Given the description of an element on the screen output the (x, y) to click on. 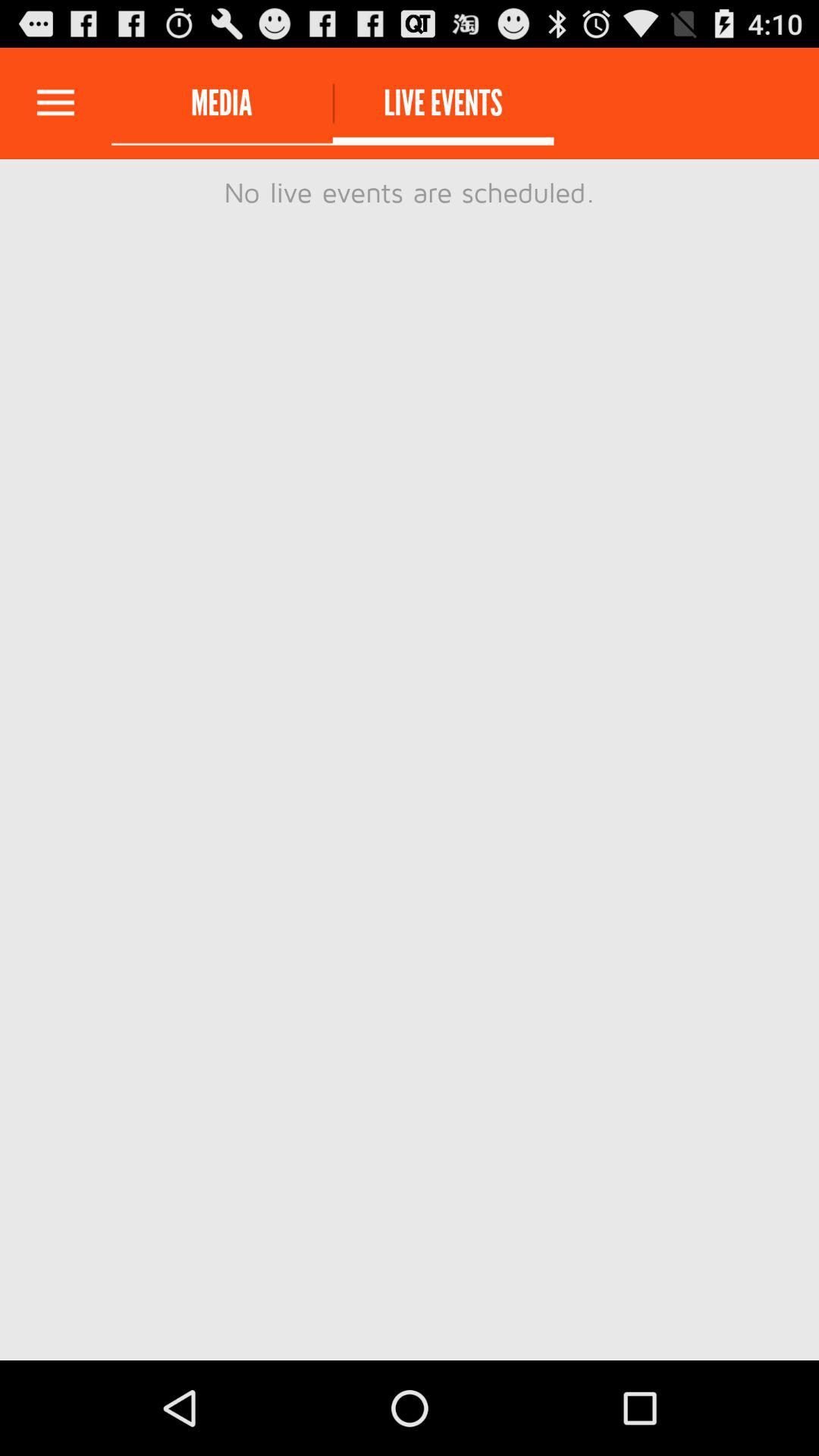
expand menu options (55, 103)
